Given the description of an element on the screen output the (x, y) to click on. 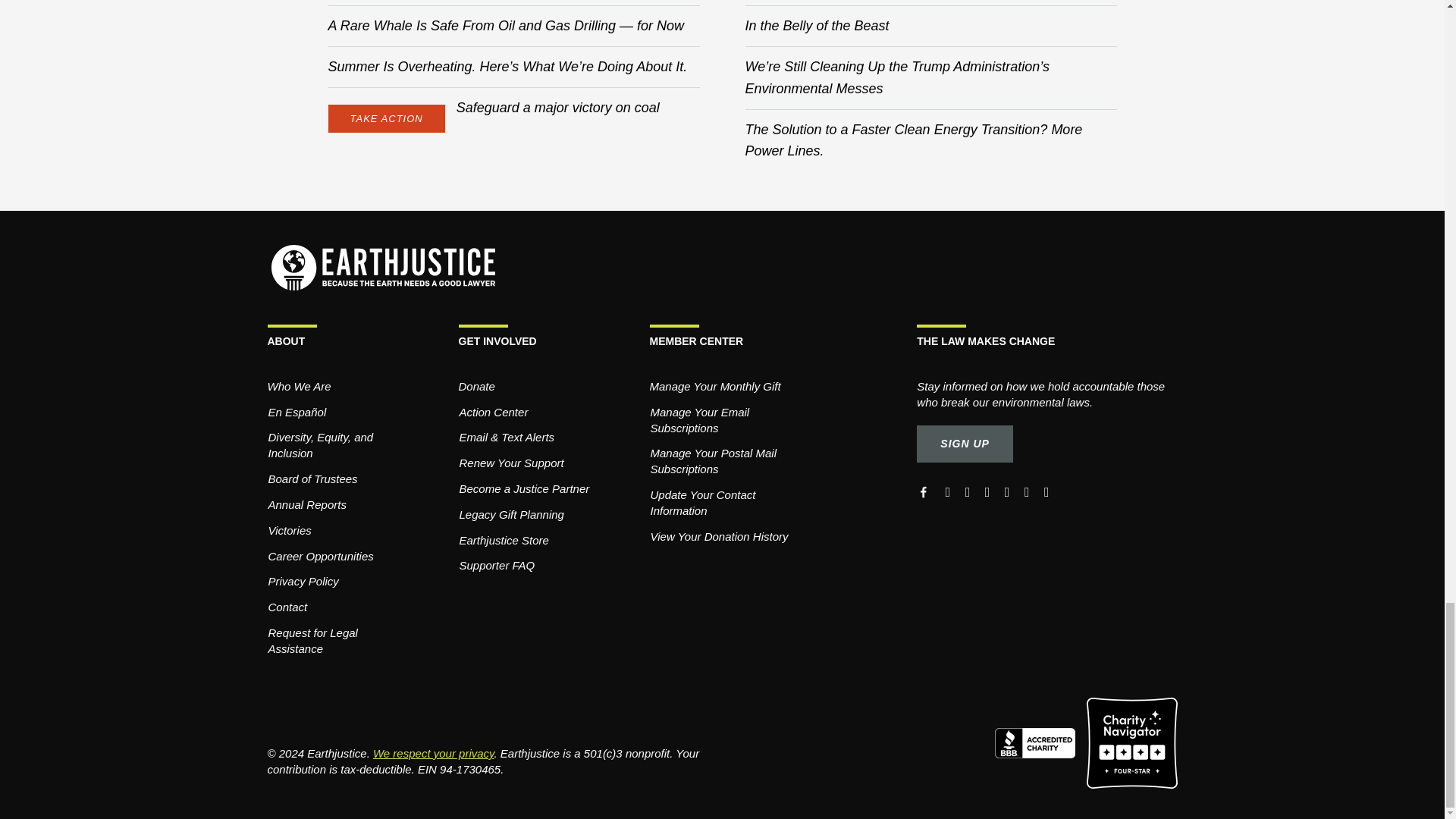
BBB Accredited (1040, 741)
In the Belly of the Beast (816, 25)
Charity Navigator: Four-Star Charity (1131, 741)
Safeguard a major victory on coal (558, 107)
